Given the description of an element on the screen output the (x, y) to click on. 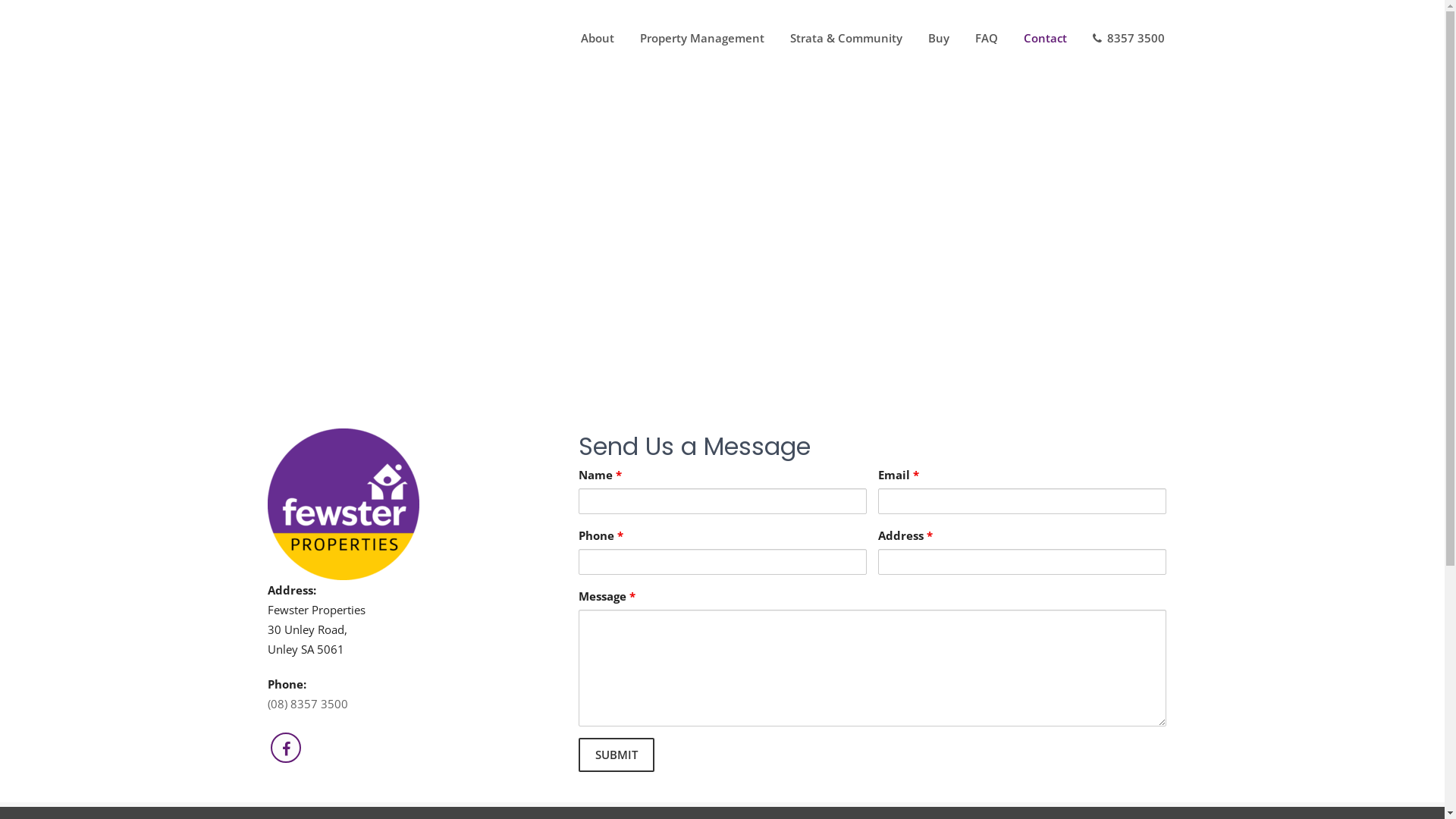
cropped-v1logocircle_fewprop_side.png Element type: hover (342, 504)
Contact Element type: text (1044, 37)
FAQ Element type: text (985, 37)
About Element type: text (596, 37)
8357 3500 Element type: text (1128, 37)
(08) 8357 3500 Element type: text (306, 703)
Buy Element type: text (937, 37)
Property Management Element type: text (701, 37)
Strata & Community Element type: text (845, 37)
SUBMIT Element type: text (615, 754)
